Given the description of an element on the screen output the (x, y) to click on. 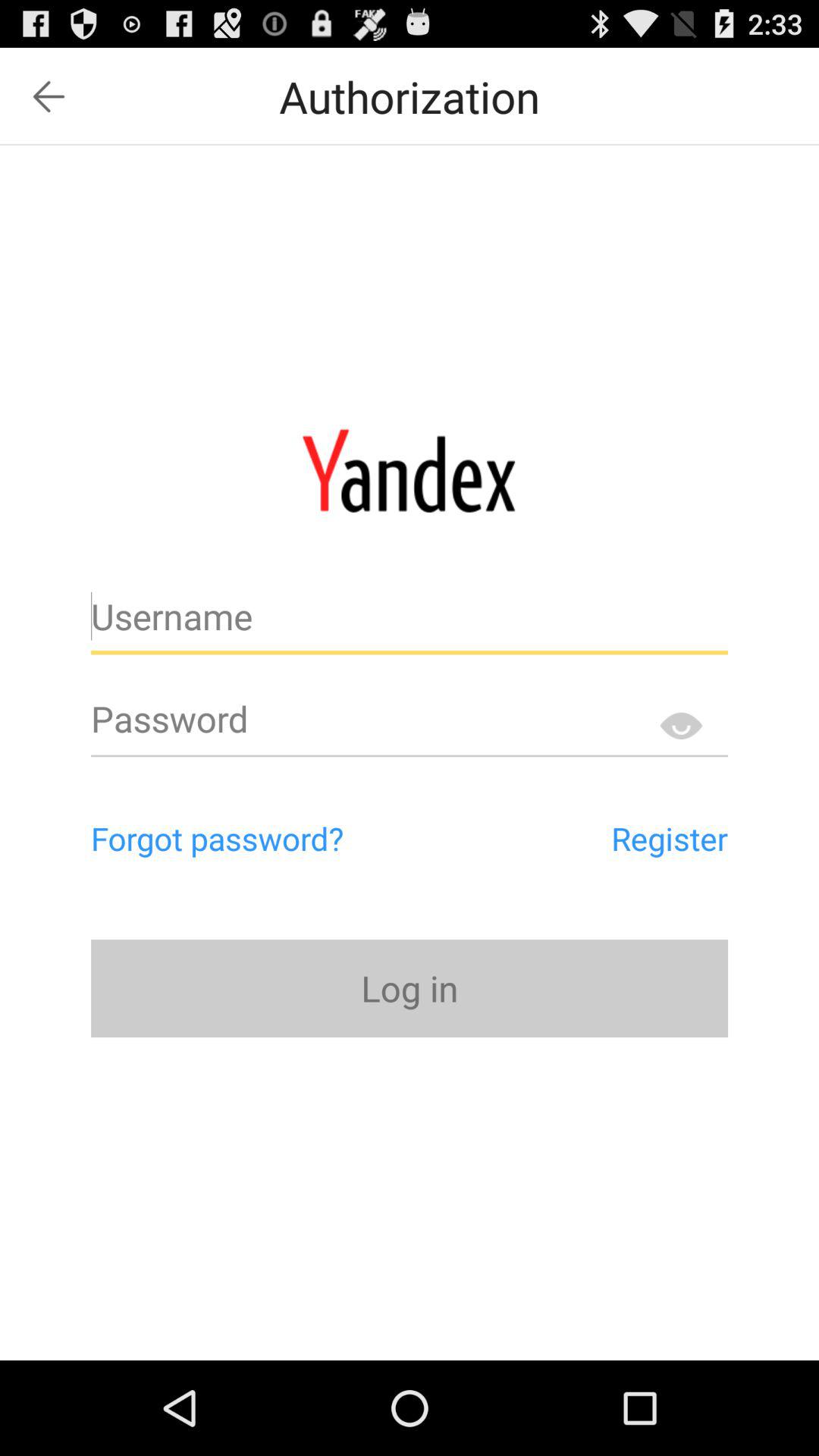
flip until the forgot password? (282, 837)
